Given the description of an element on the screen output the (x, y) to click on. 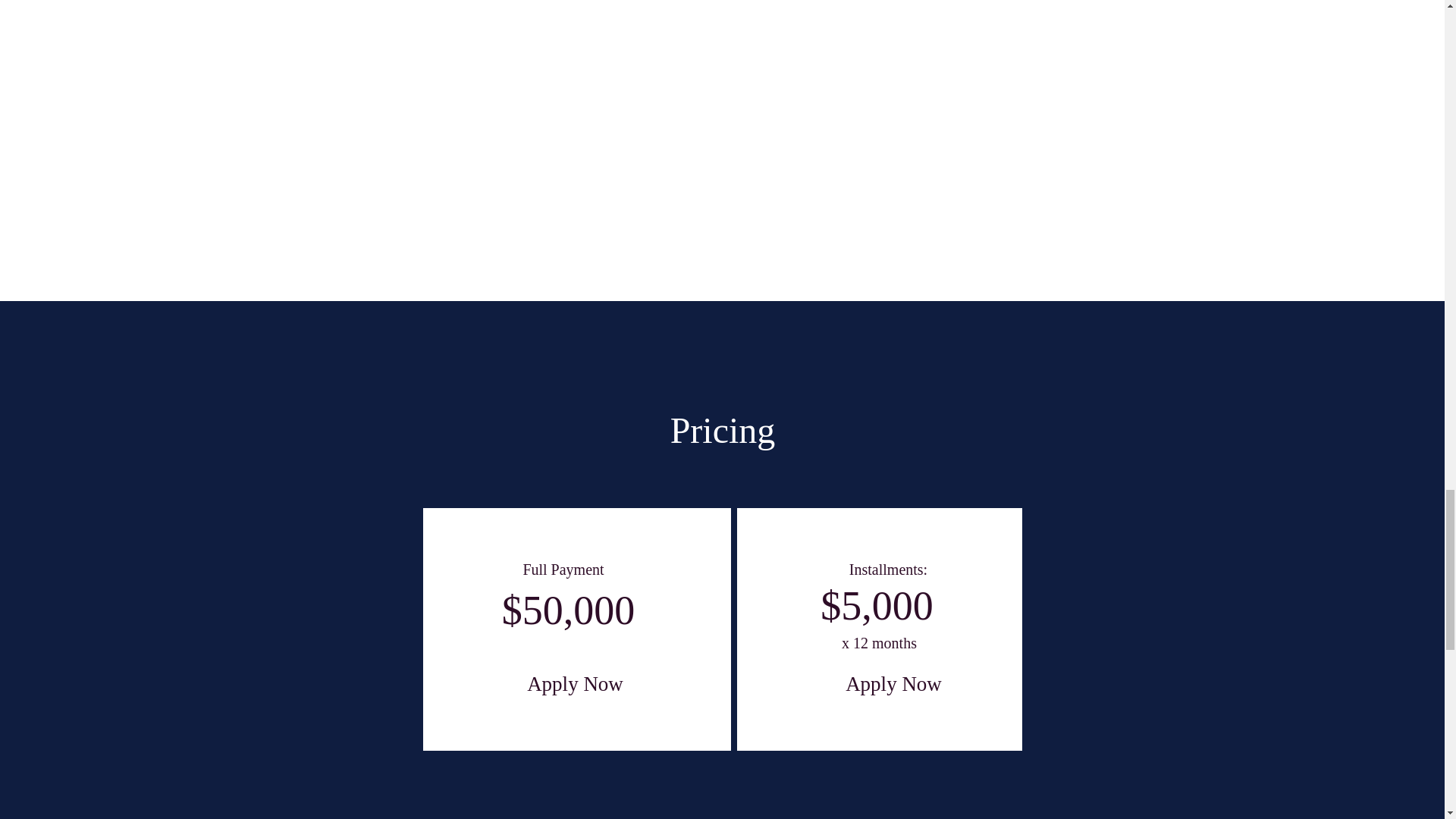
Apply Now (575, 686)
Apply Now (893, 686)
